Given the description of an element on the screen output the (x, y) to click on. 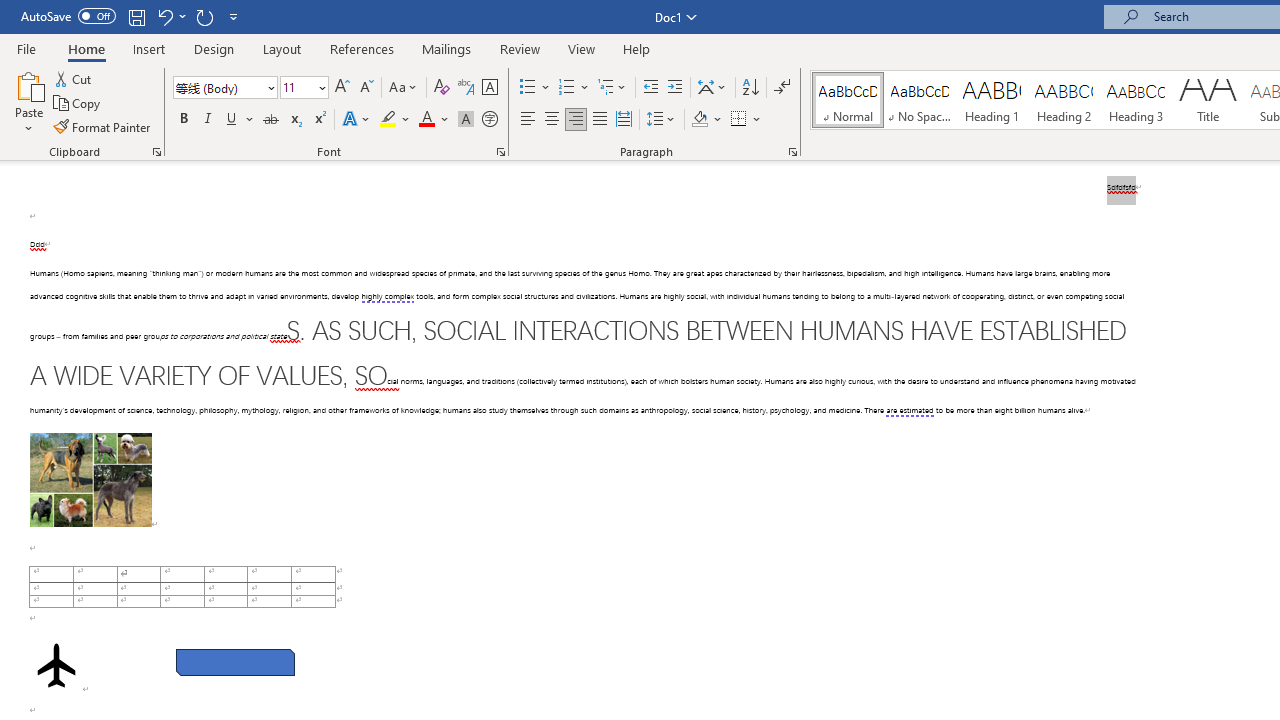
Repeat Paragraph Alignment (204, 15)
